Given the description of an element on the screen output the (x, y) to click on. 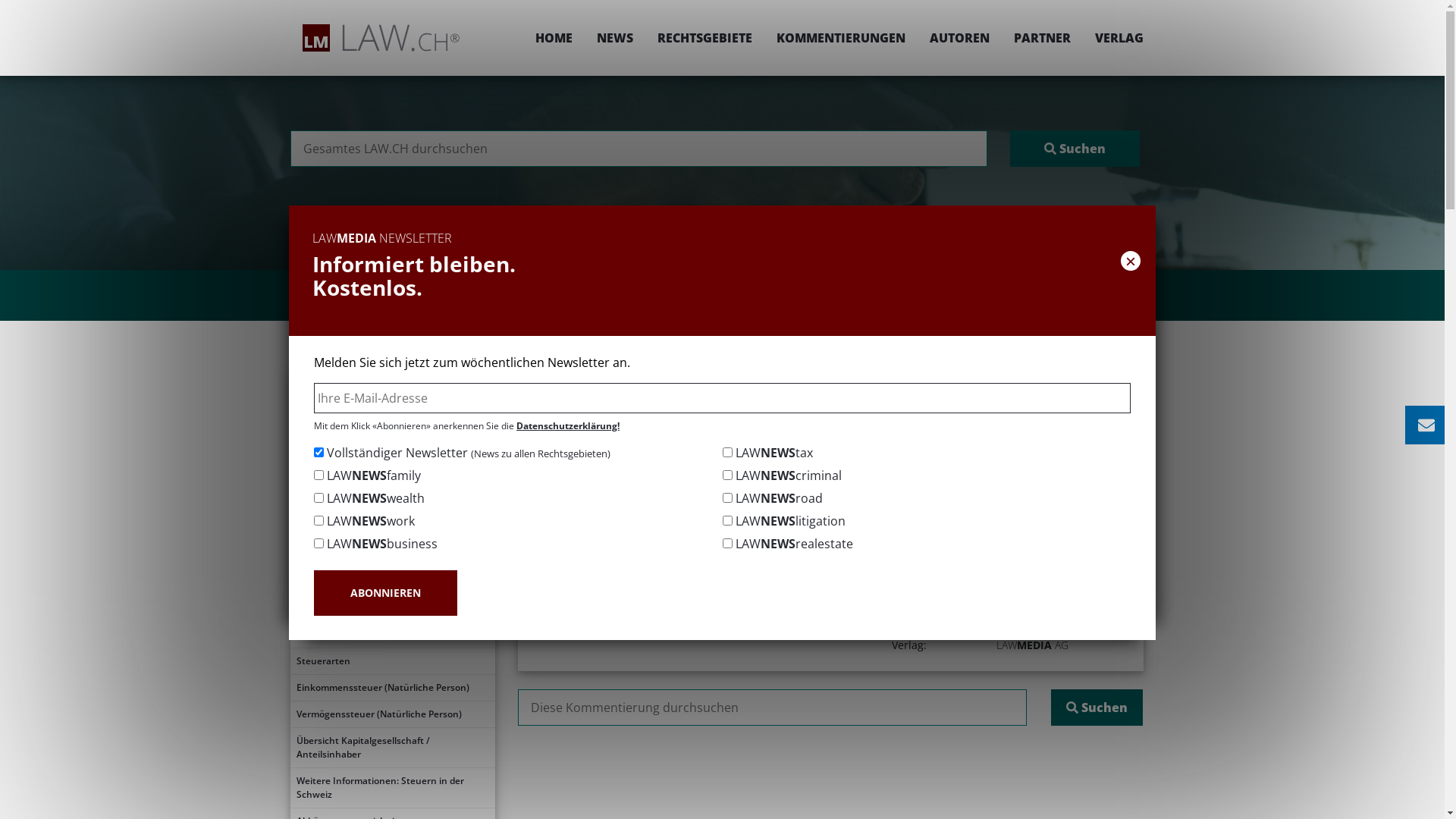
Besteuerung Personenunternehmen Element type: text (391, 634)
Gliederung Element type: text (391, 448)
VERLAG Element type: text (1112, 37)
Rechtsgebiete Element type: text (697, 375)
Steuerarten Element type: text (391, 661)
Suchen nach: Element type: hover (771, 707)
NEWS Element type: text (613, 37)
 TEILEN Element type: text (989, 426)
Gesetzliche Grundlagen Element type: text (391, 554)
 DRUCKEN / PDF Element type: text (1095, 426)
Suchen nach: Element type: hover (637, 148)
PARTNER Element type: text (1041, 37)
AUTOREN Element type: text (959, 37)
Unternehmenstypen Element type: text (391, 608)
KOMMENTIERUNGEN Element type: text (840, 37)
Home Element type: text (628, 375)
Inhaltsverzeichnis Element type: text (391, 421)
HOME Element type: text (553, 37)
Abgrenzungen Element type: text (391, 581)
RECHTSGEBIETE Element type: text (703, 37)
ABONNIEREN Element type: text (385, 592)
Weitere Informationen: Steuern in der Schweiz Element type: text (391, 787)
